Given the description of an element on the screen output the (x, y) to click on. 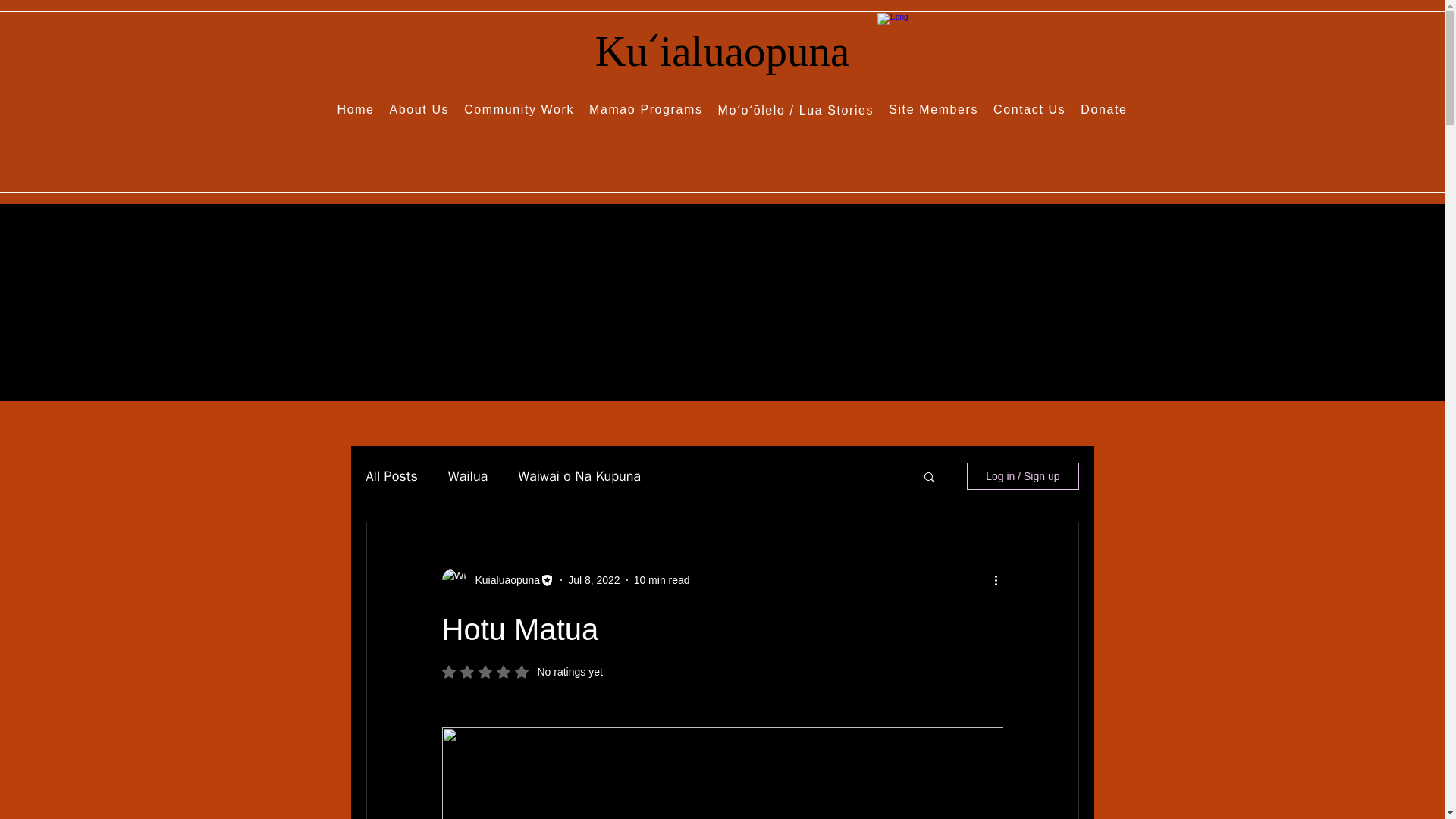
About Us (521, 671)
Waiwai o Na Kupuna (419, 109)
Jul 8, 2022 (579, 475)
Home (593, 579)
Community Work (355, 109)
All Posts (518, 109)
10 min read (390, 475)
Kuialuaopuna (661, 579)
Donate (497, 580)
Contact Us (1103, 109)
Wailua (1029, 109)
Site Members (467, 475)
Kuialuaopuna (933, 109)
Mamao Programs (502, 579)
